Given the description of an element on the screen output the (x, y) to click on. 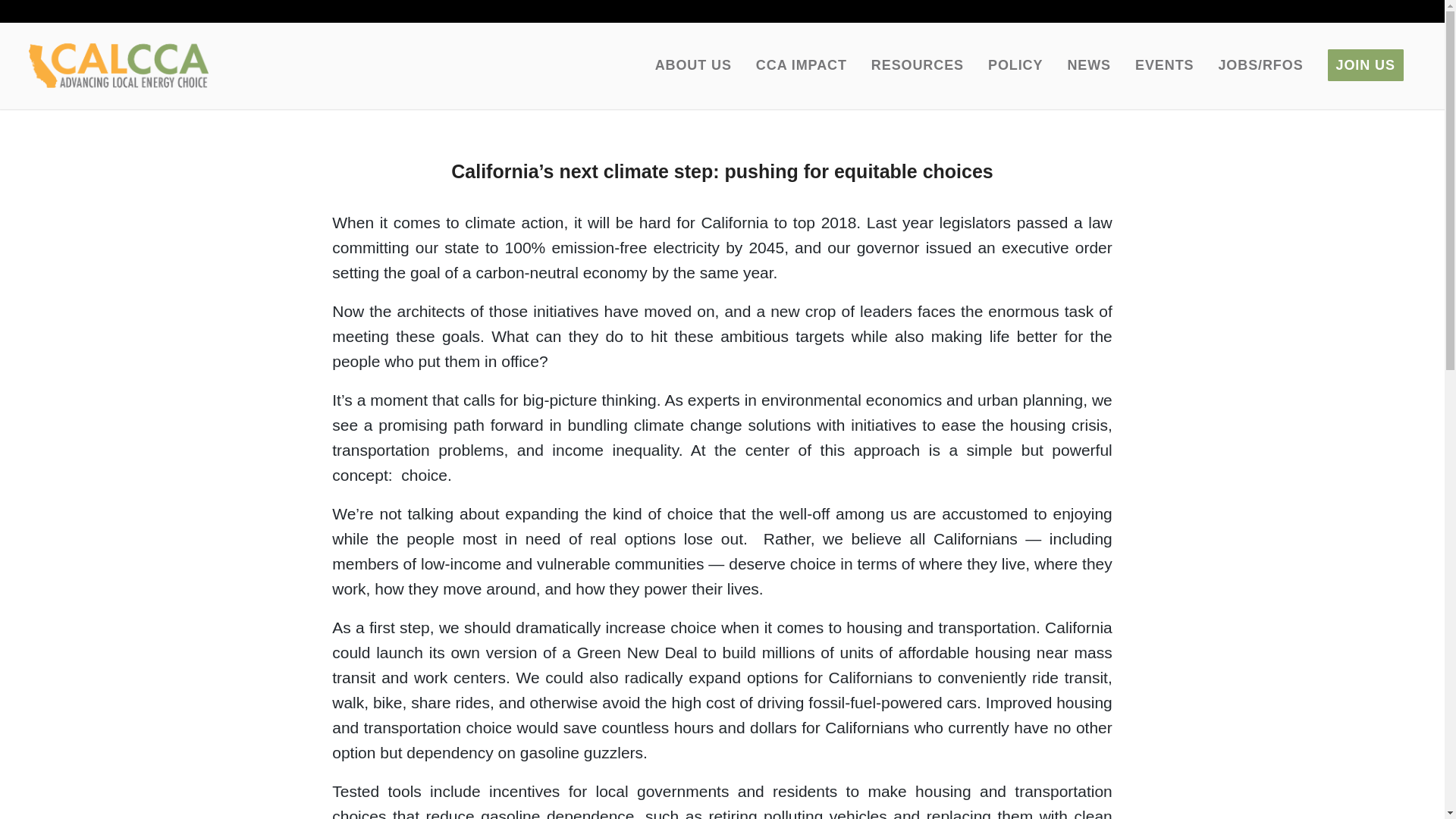
POLICY (1014, 65)
EVENTS (1163, 65)
JOIN US (1365, 65)
RESOURCES (917, 65)
CCA IMPACT (801, 65)
ABOUT US (693, 65)
logo (118, 65)
